Given the description of an element on the screen output the (x, y) to click on. 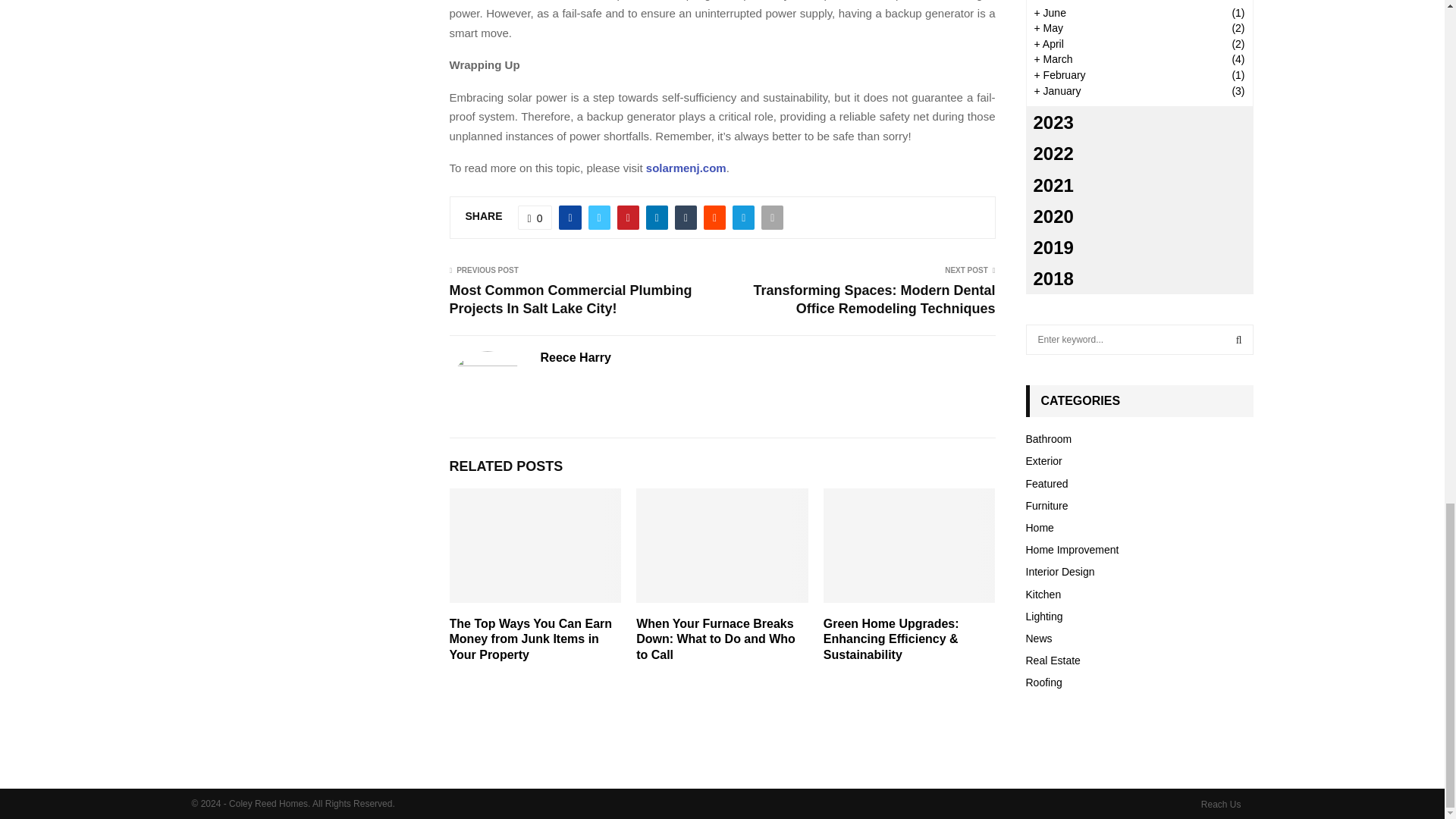
Posts by Reece Harry (575, 358)
0 (535, 217)
Like (535, 217)
solarmenj.com (686, 167)
